Given the description of an element on the screen output the (x, y) to click on. 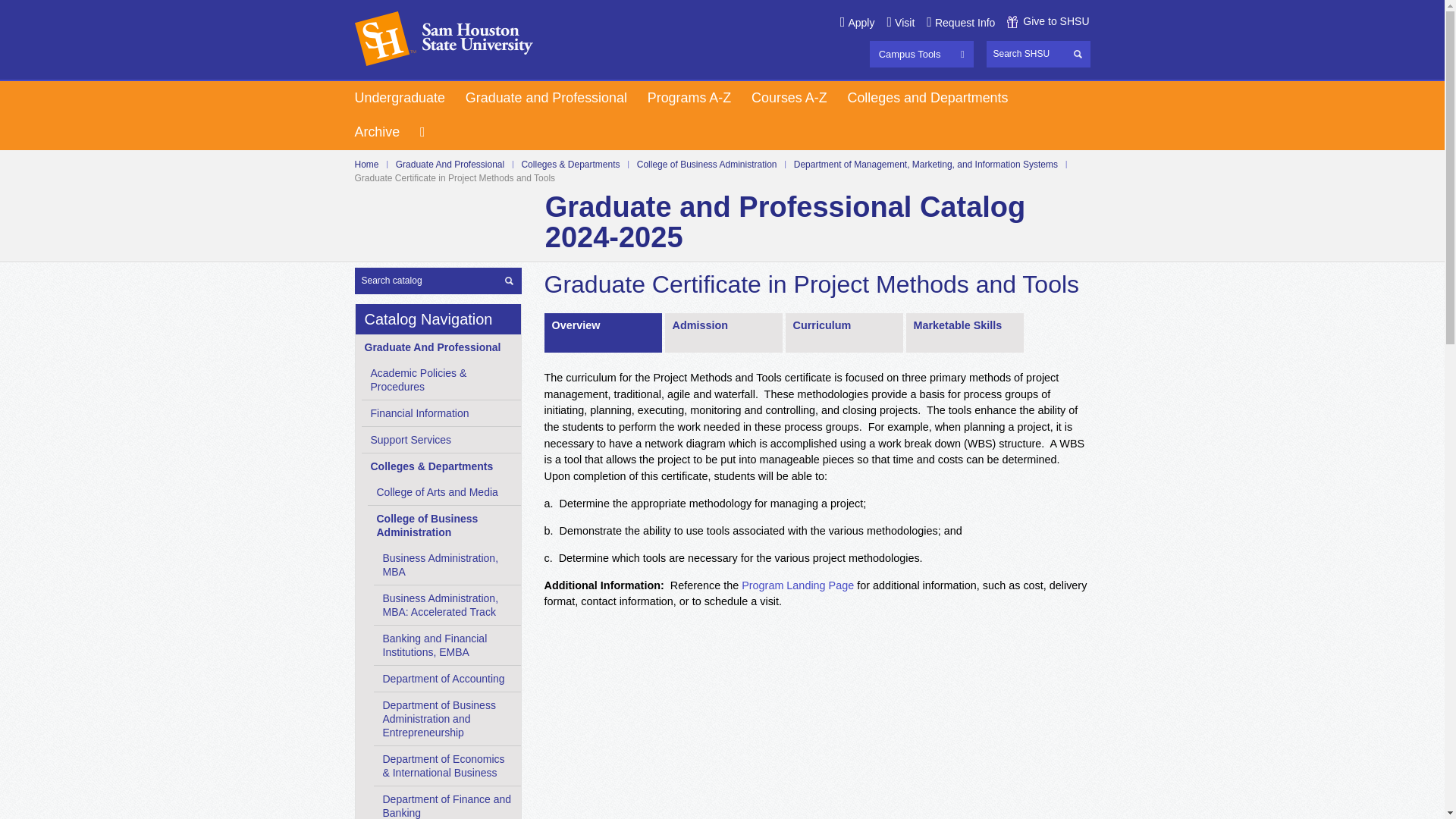
Search (1037, 53)
Search Catalog (438, 279)
Search (1077, 53)
Search (509, 280)
